Given the description of an element on the screen output the (x, y) to click on. 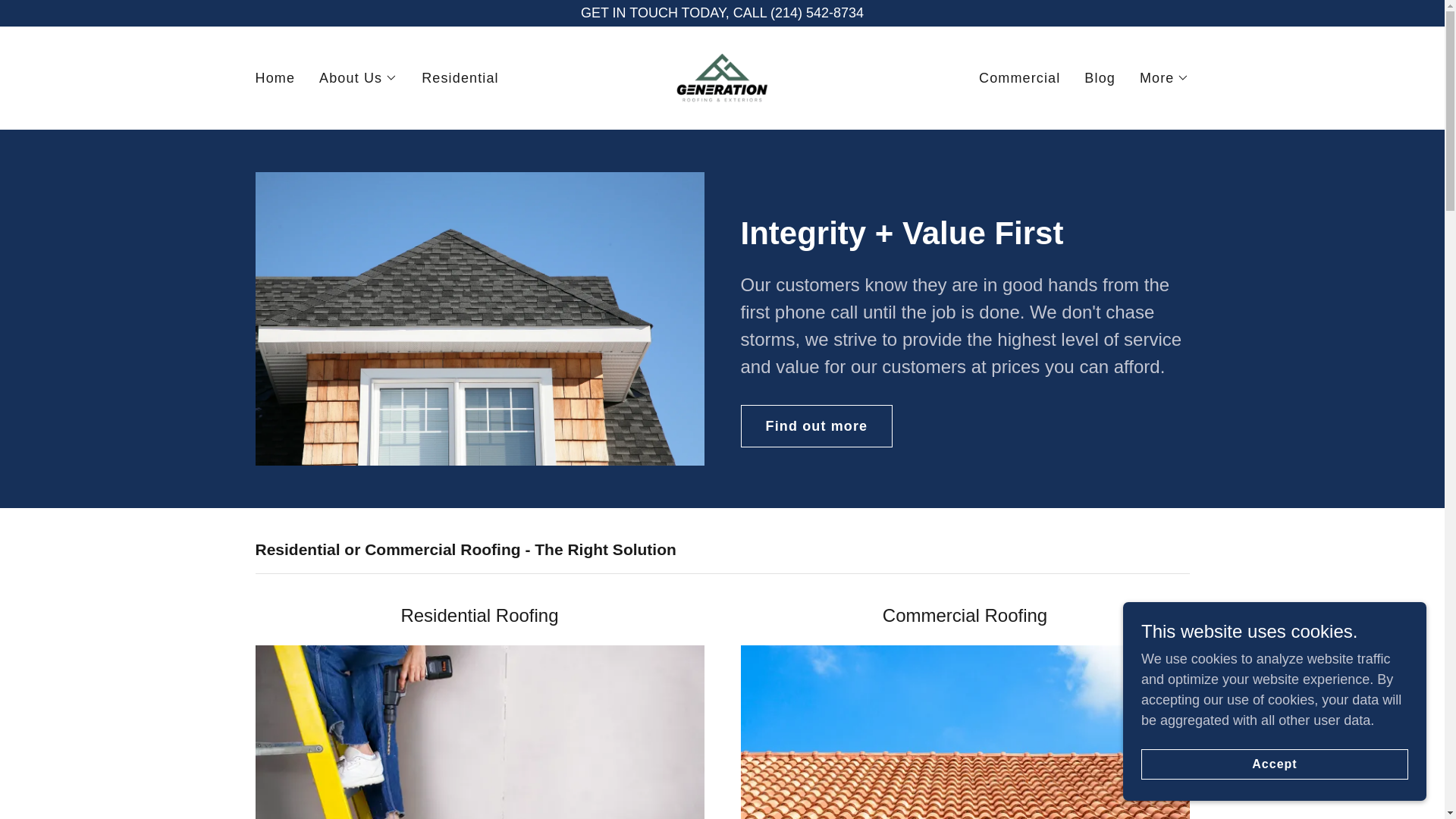
About Us (357, 77)
Blog (1099, 77)
Generation Roofing Company (721, 77)
Residential (459, 77)
More (1164, 77)
Home (274, 77)
Commercial (1019, 77)
Find out more (815, 425)
